Given the description of an element on the screen output the (x, y) to click on. 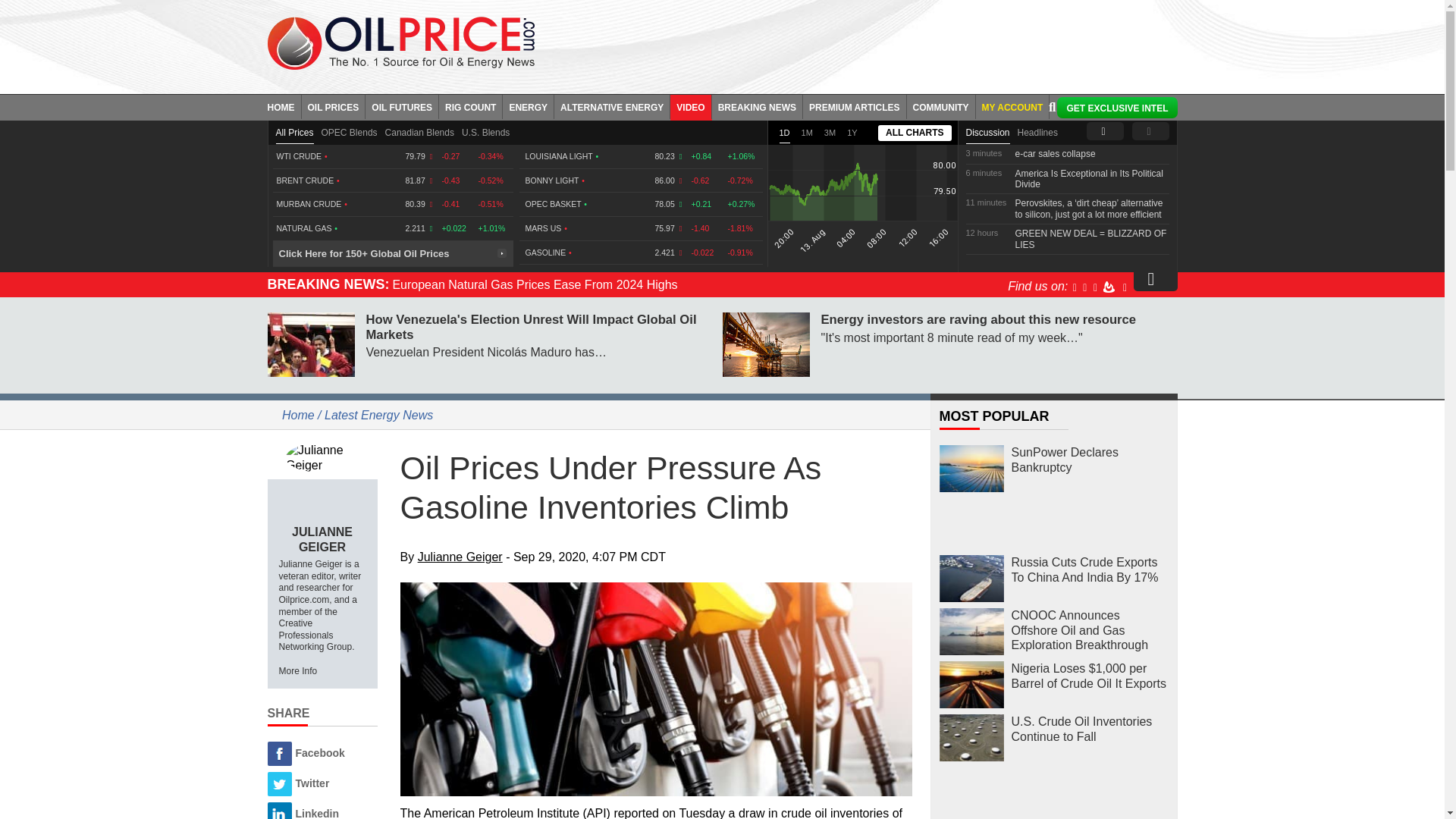
SunPower Declares Bankruptcy (971, 469)
ENERGY (528, 106)
RIG COUNT (470, 106)
Julianne Geiger (321, 457)
PREMIUM ARTICLES (855, 106)
VIDEO (690, 106)
ALTERNATIVE ENERGY (611, 106)
OIL FUTURES (402, 106)
MY ACCOUNT (1012, 106)
